Given the description of an element on the screen output the (x, y) to click on. 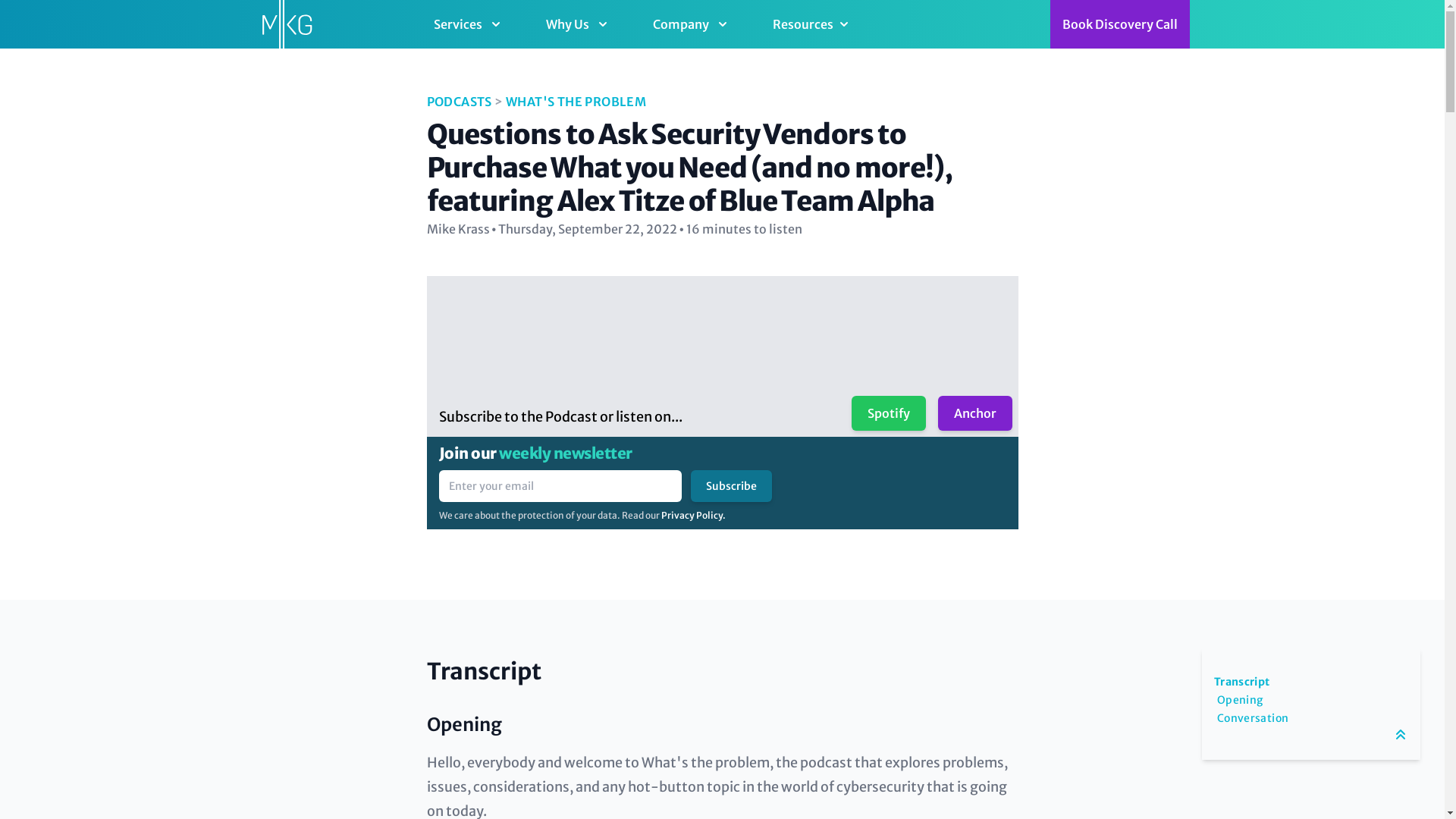
Book Discovery Call (1119, 24)
Company (691, 24)
Services (468, 24)
Back to top (1400, 734)
Why Us (577, 24)
Resources (812, 24)
MKG Marketing (285, 24)
